Given the description of an element on the screen output the (x, y) to click on. 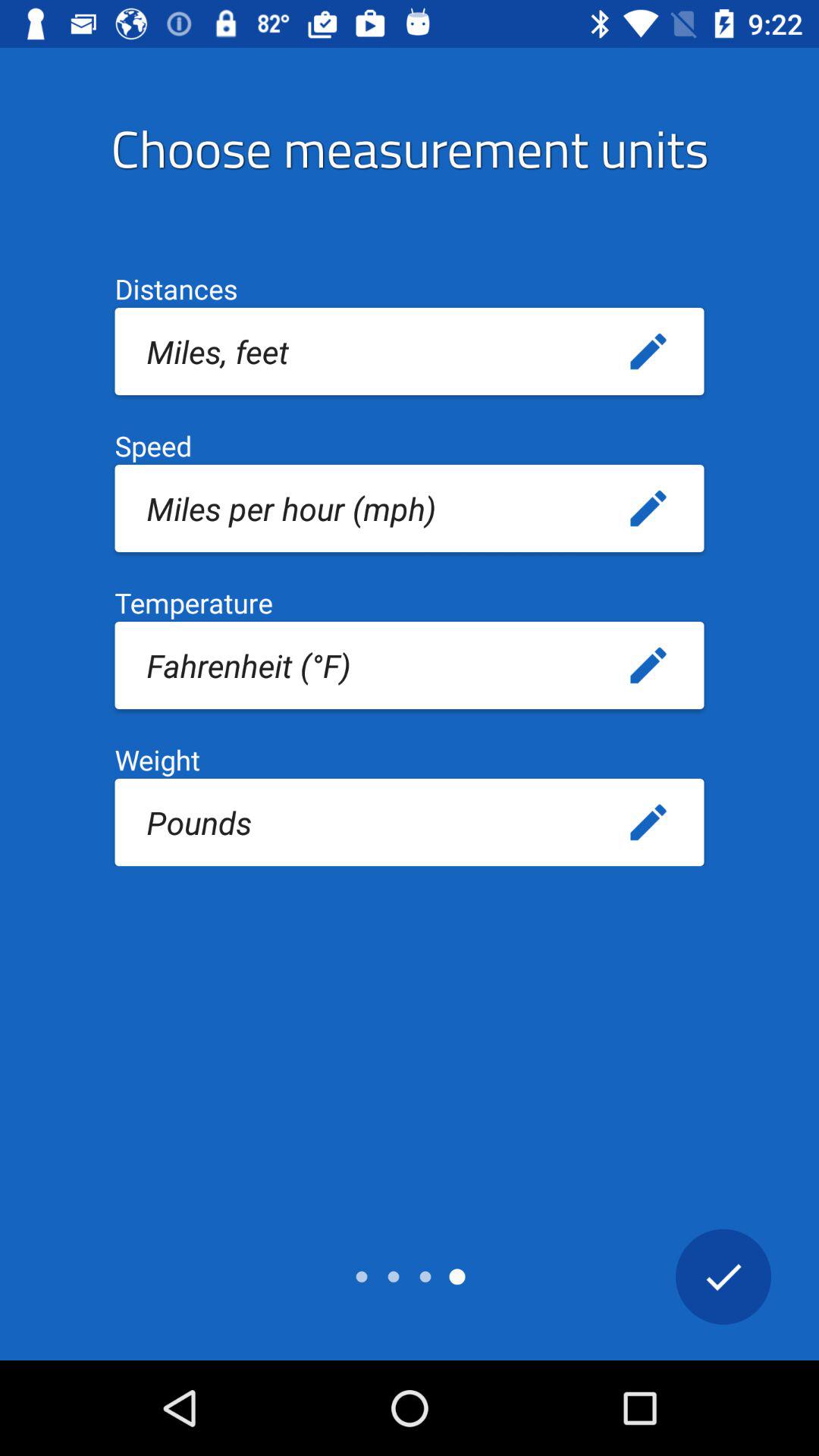
confirm selections (723, 1276)
